Given the description of an element on the screen output the (x, y) to click on. 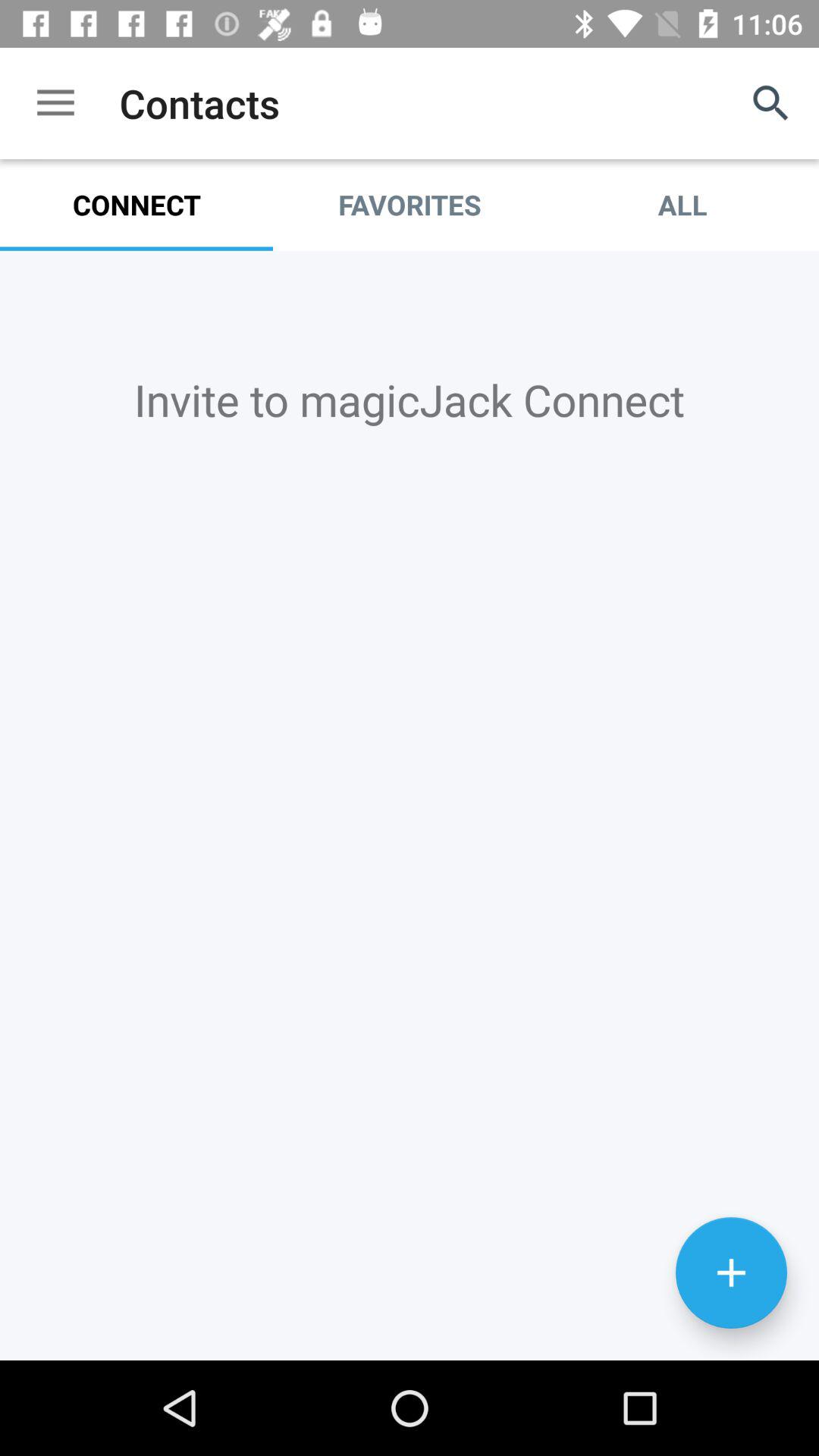
jump to invite to magicjack item (409, 399)
